Given the description of an element on the screen output the (x, y) to click on. 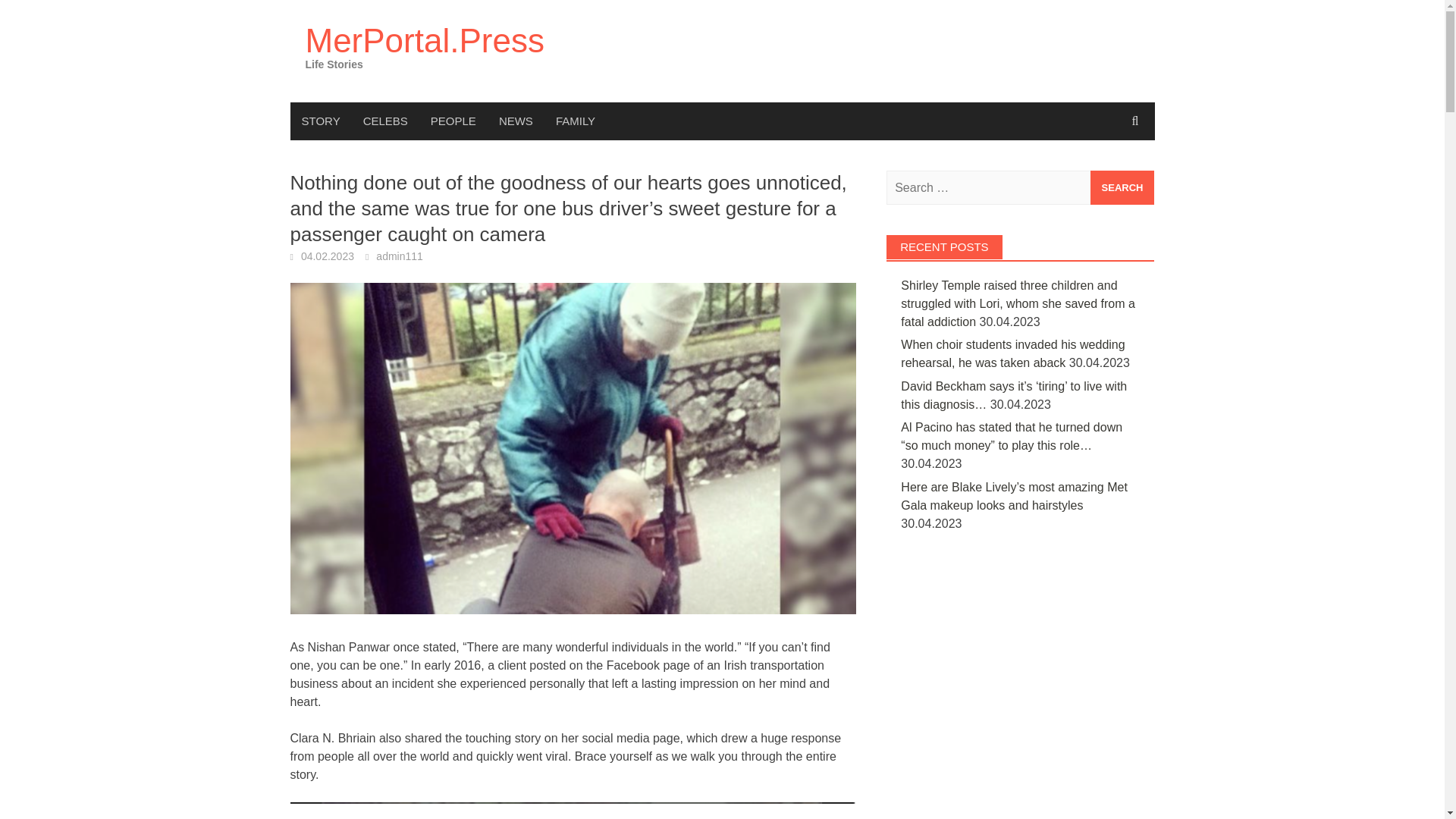
04.02.2023 (327, 256)
Search (1122, 187)
CELEBS (385, 121)
admin111 (399, 256)
Search (1122, 187)
STORY (319, 121)
NEWS (515, 121)
PEOPLE (453, 121)
FAMILY (575, 121)
MerPortal.Press (423, 40)
Search (1122, 187)
